Given the description of an element on the screen output the (x, y) to click on. 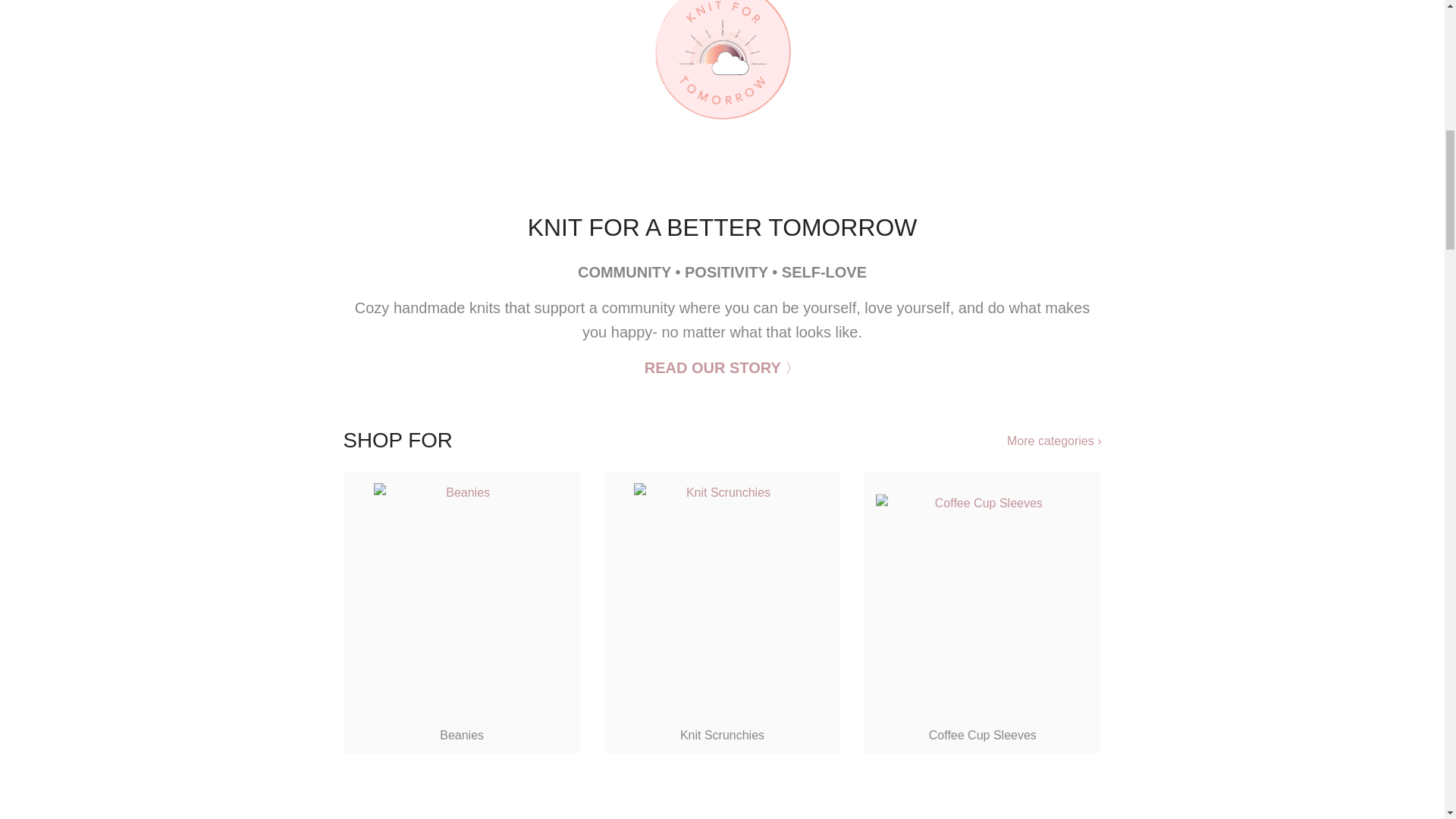
ABOUT US (722, 367)
